Given the description of an element on the screen output the (x, y) to click on. 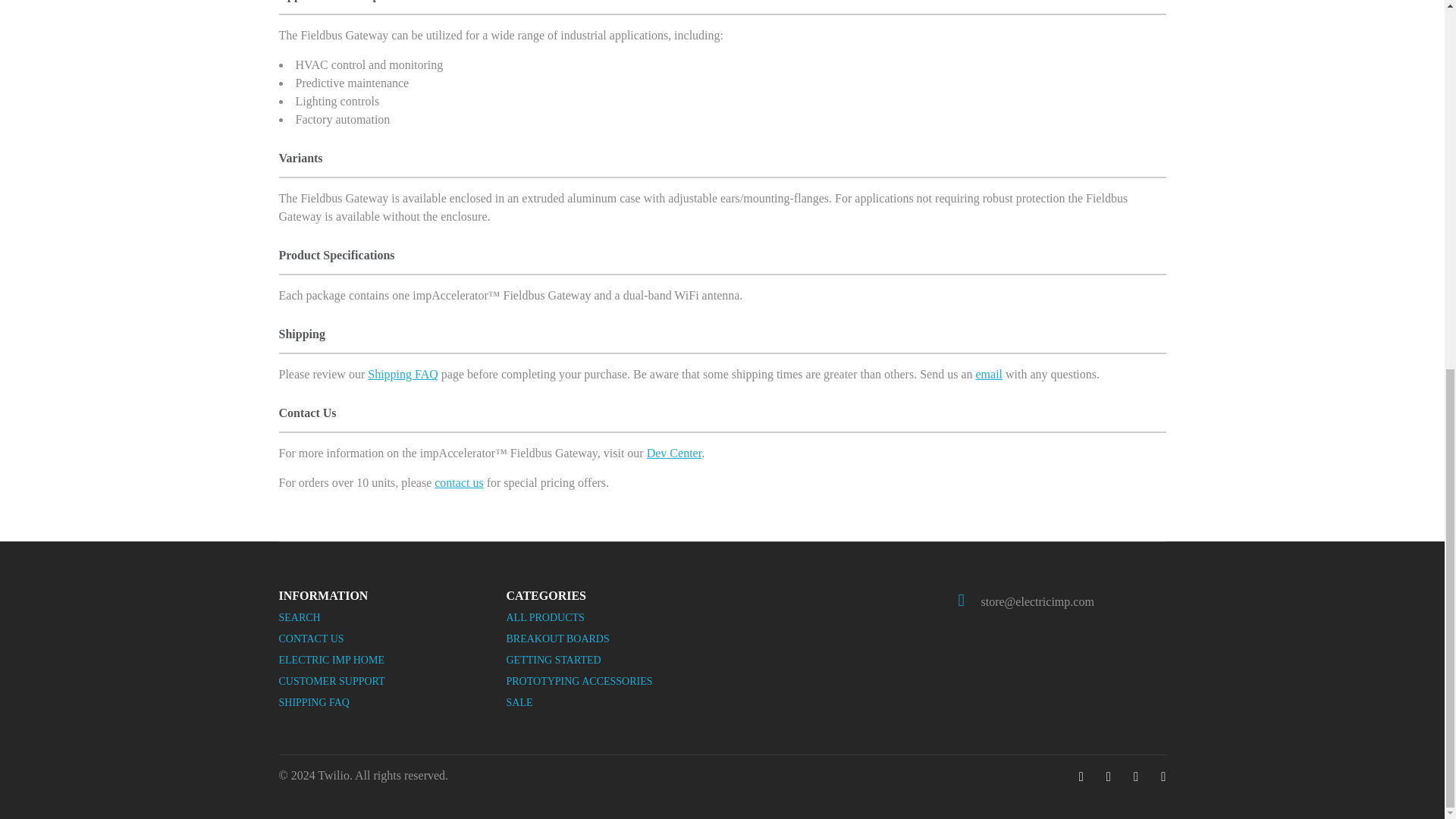
Electric Imp Shipping FAQ (403, 373)
SHIPPING FAQ (314, 702)
CONTACT US (311, 638)
Dev Center (673, 452)
contact us (458, 481)
CUSTOMER SUPPORT (332, 681)
SEARCH (299, 617)
email (989, 373)
ELECTRIC IMP HOME (331, 659)
Shipping FAQ (403, 373)
